Given the description of an element on the screen output the (x, y) to click on. 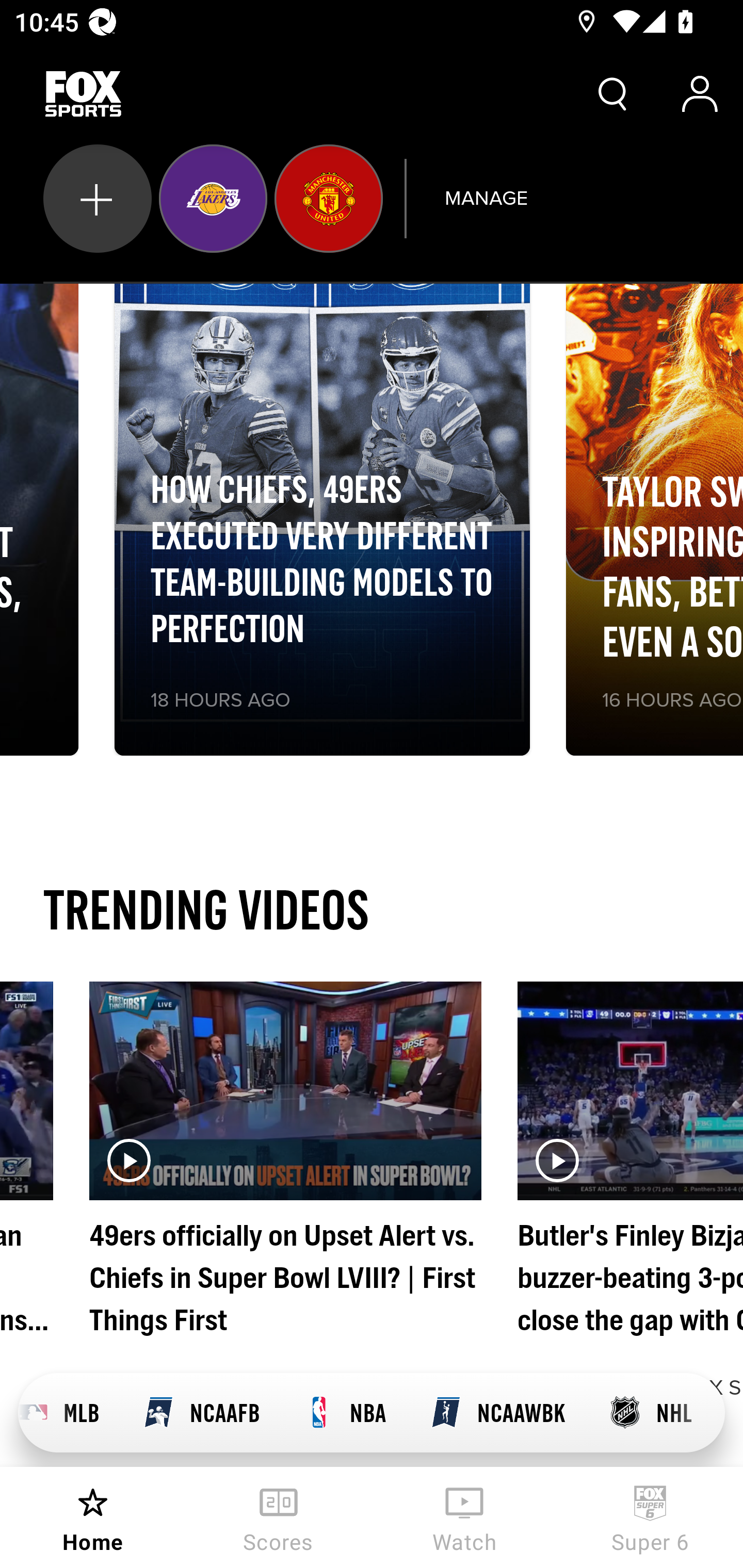
Search (612, 93)
Account (699, 93)
MANAGE (485, 198)
MLB (68, 1412)
NCAAFB (200, 1412)
NBA (343, 1412)
NCAAWBK (496, 1412)
NHL (649, 1412)
Scores (278, 1517)
Watch (464, 1517)
Super 6 (650, 1517)
